Given the description of an element on the screen output the (x, y) to click on. 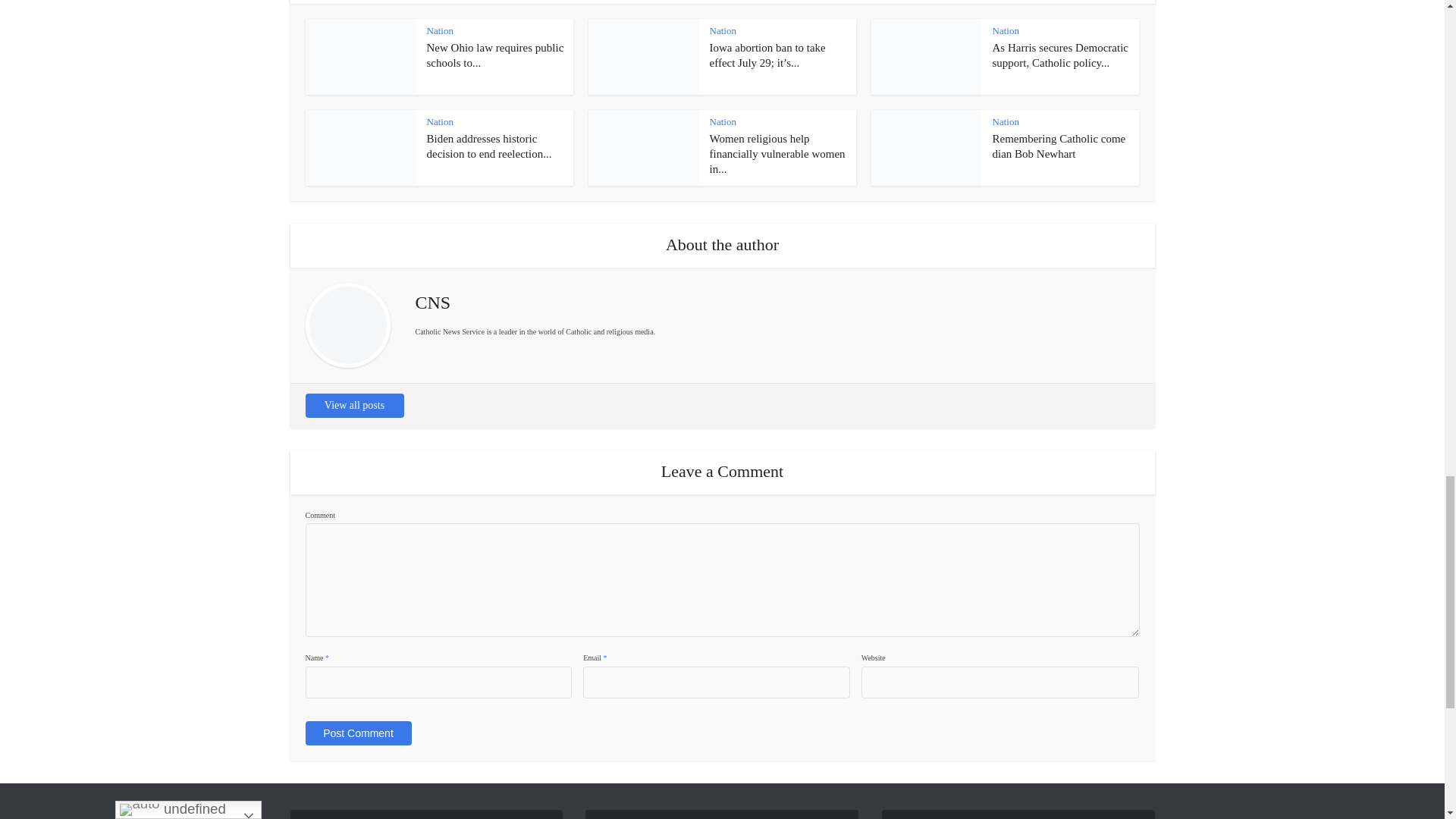
Post Comment (357, 733)
